Given the description of an element on the screen output the (x, y) to click on. 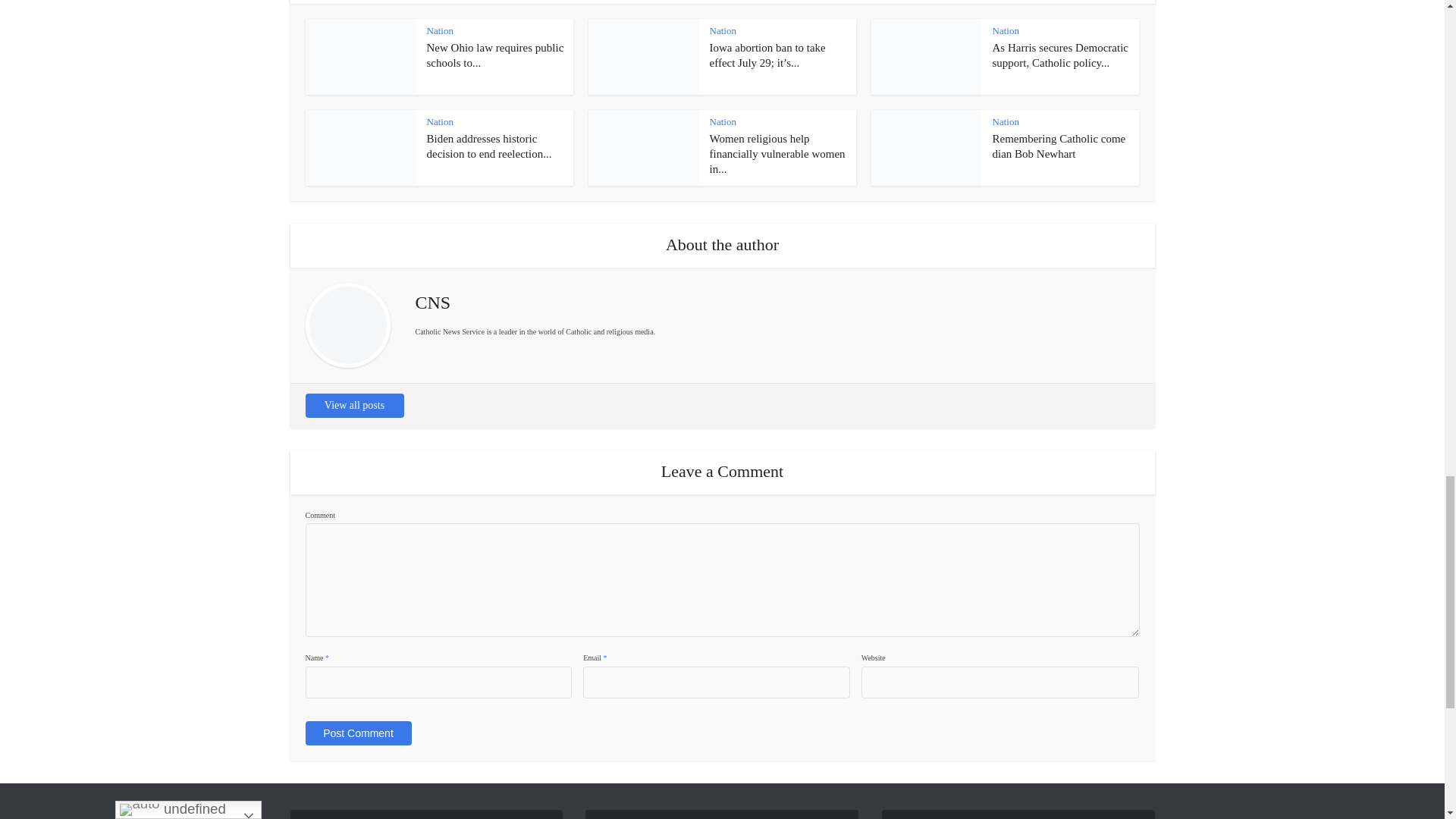
Post Comment (357, 733)
